Given the description of an element on the screen output the (x, y) to click on. 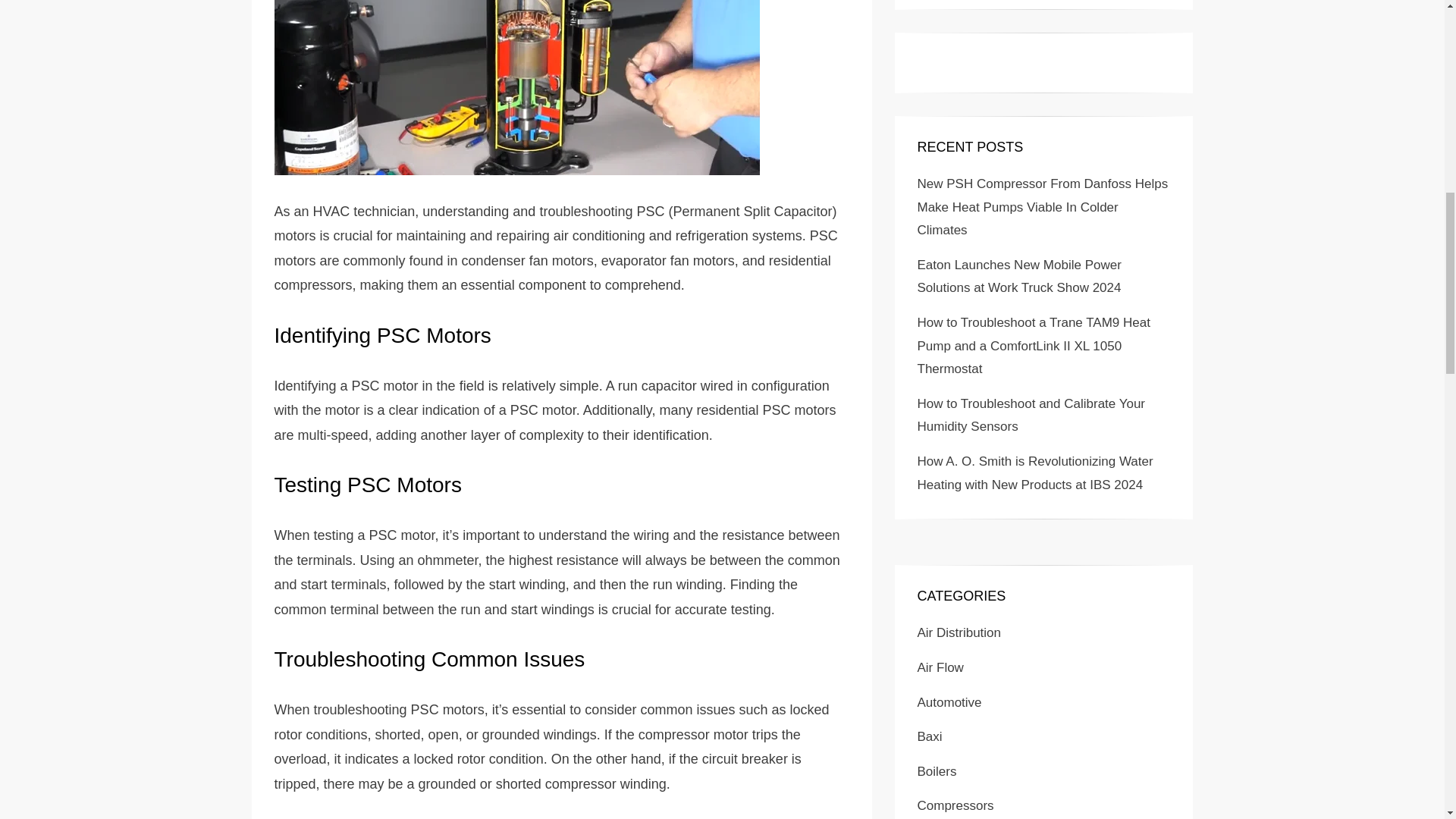
Baxi (929, 736)
Automotive (949, 702)
Air Flow (940, 667)
How to Troubleshoot and Calibrate Your Humidity Sensors (1031, 415)
Air Distribution (959, 632)
Boilers (936, 771)
Compressors (955, 805)
